Given the description of an element on the screen output the (x, y) to click on. 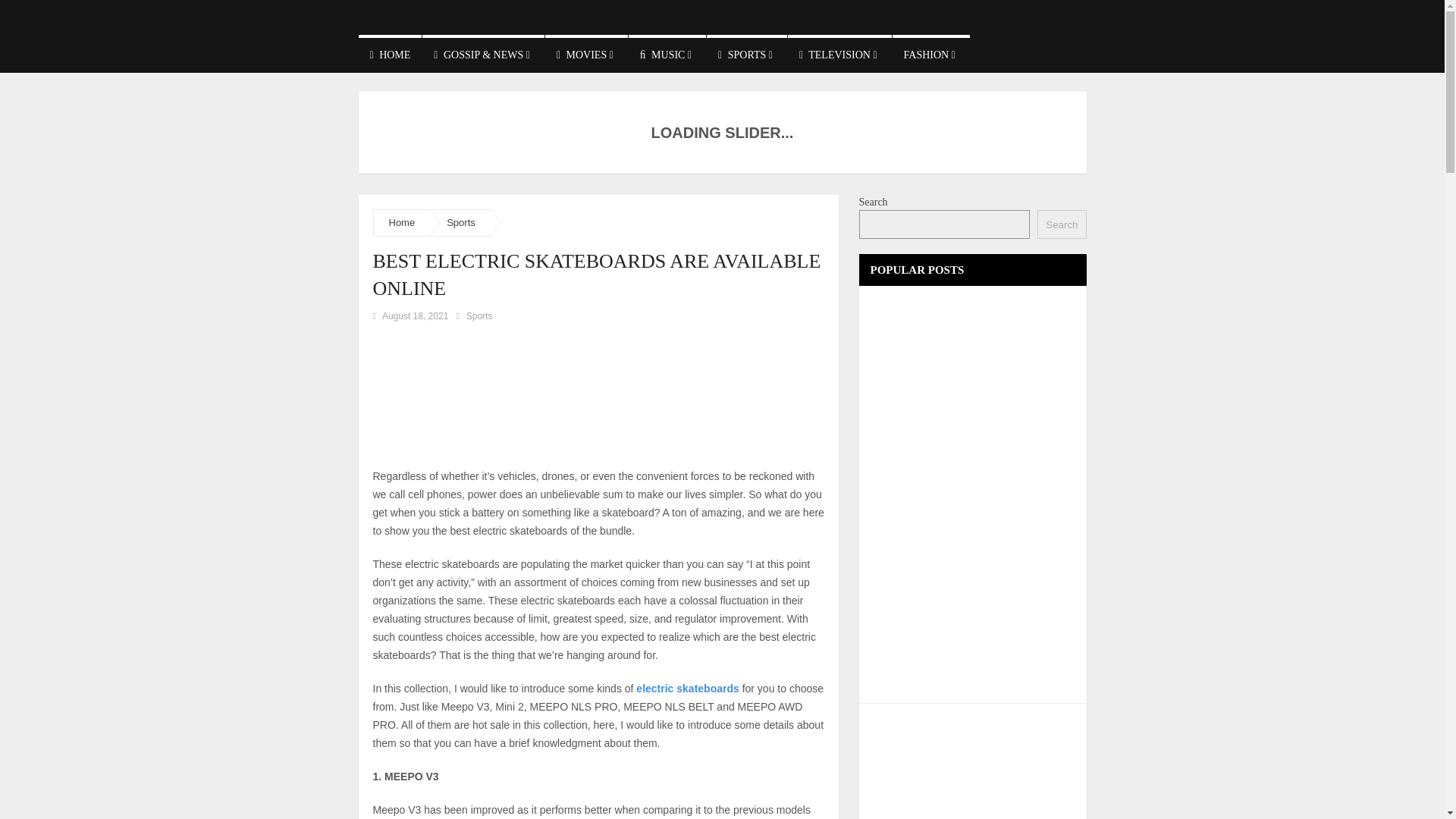
MOVIES (585, 53)
MUSIC (667, 53)
Sports (461, 222)
TELEVISION (839, 53)
Home (401, 222)
Sports (479, 316)
FASHION (930, 53)
SPORTS (746, 53)
HOME (390, 53)
electric skateboards (687, 688)
